Given the description of an element on the screen output the (x, y) to click on. 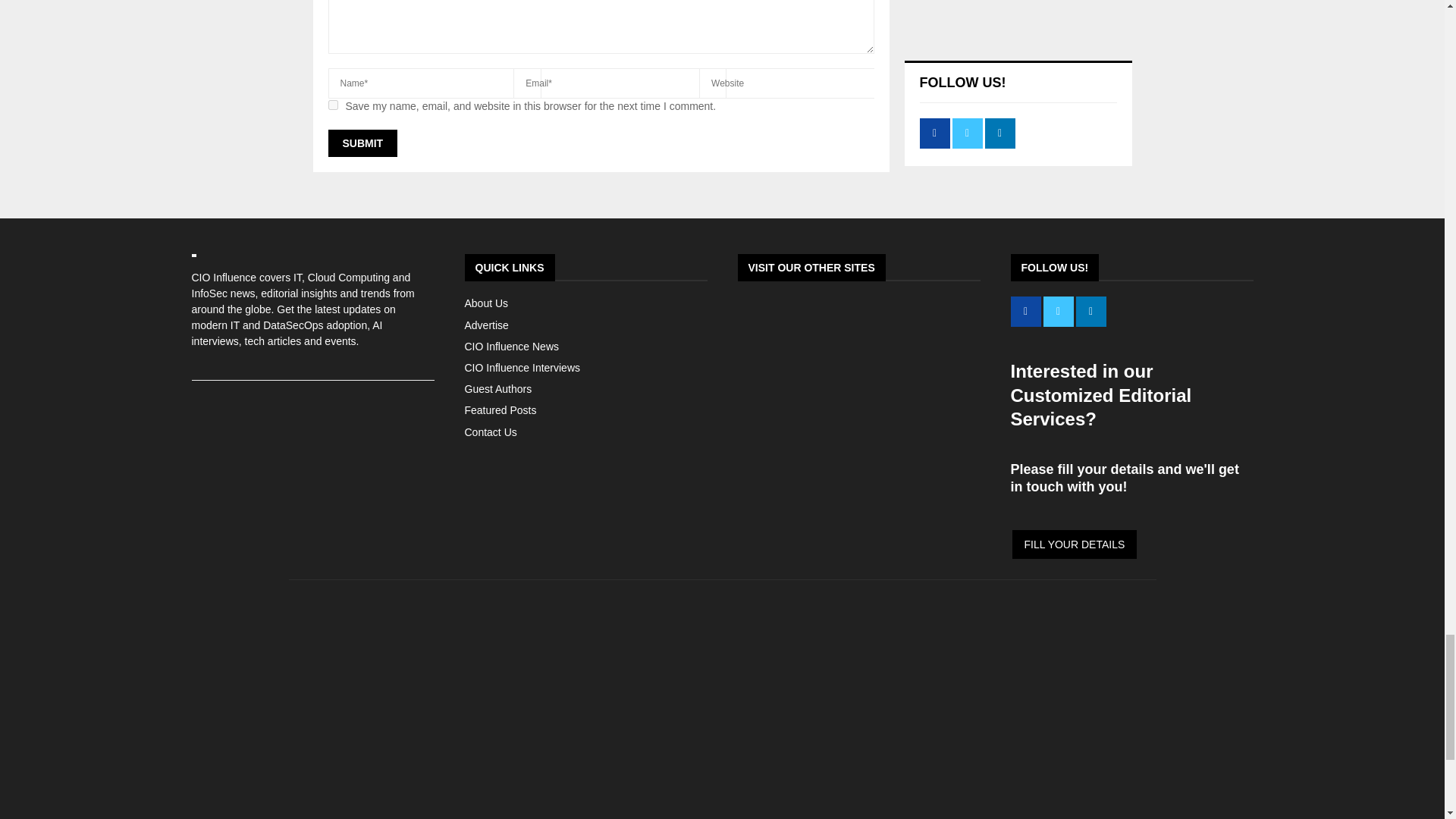
Submit (362, 143)
CIO Influence (721, 809)
yes (332, 104)
